Given the description of an element on the screen output the (x, y) to click on. 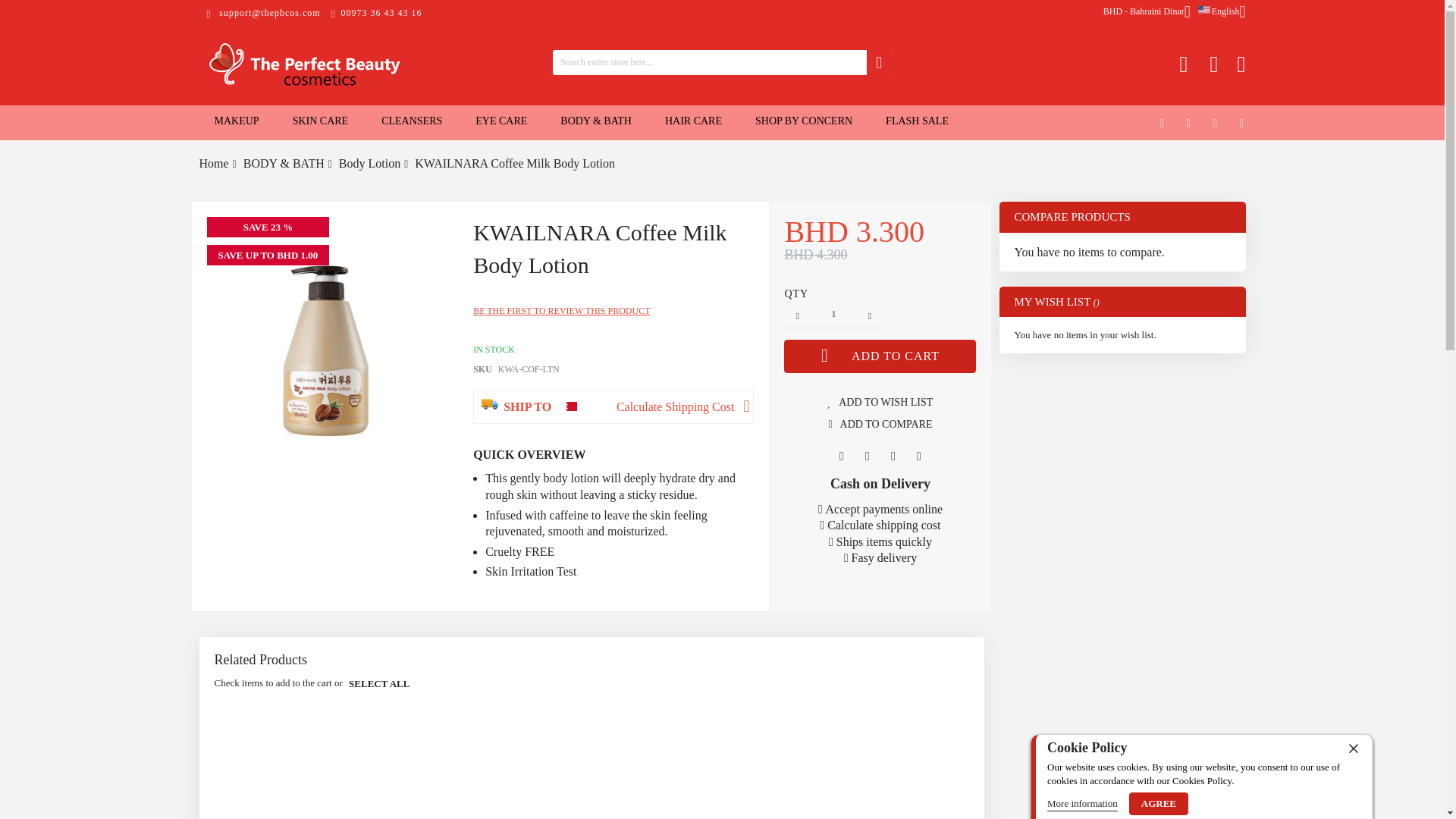
Search (878, 62)
English (1219, 10)
Decrease (797, 315)
Availability (516, 349)
BHD - Bahraini Dinar (1147, 11)
00973 36 43 43 16 (376, 12)
Close (1353, 748)
Qty (833, 315)
1 (833, 315)
More information (1082, 803)
SEARCH (878, 62)
Go to Home Page (213, 163)
AGREE (1158, 803)
Body Lotion (369, 163)
